Given the description of an element on the screen output the (x, y) to click on. 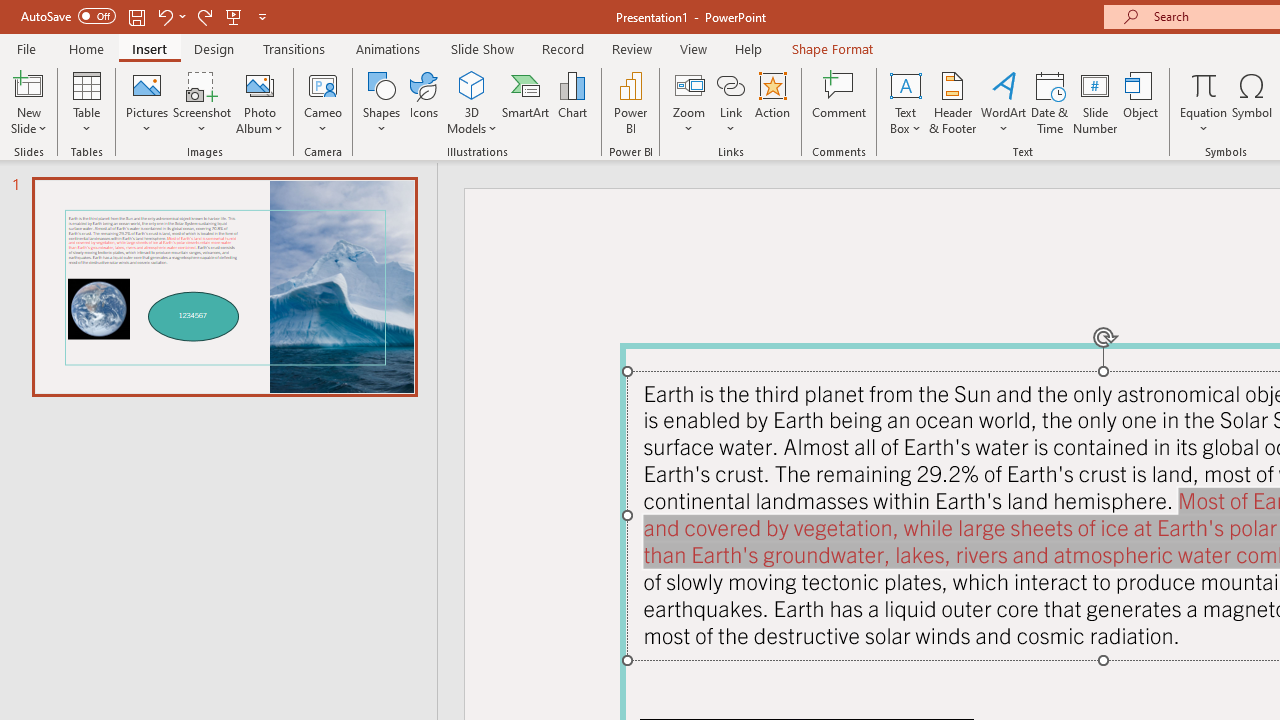
Power BI (630, 102)
Photo Album... (259, 102)
SmartArt... (525, 102)
Date & Time... (1050, 102)
Header & Footer... (952, 102)
Equation (1203, 102)
Chart... (572, 102)
3D Models (472, 84)
